Given the description of an element on the screen output the (x, y) to click on. 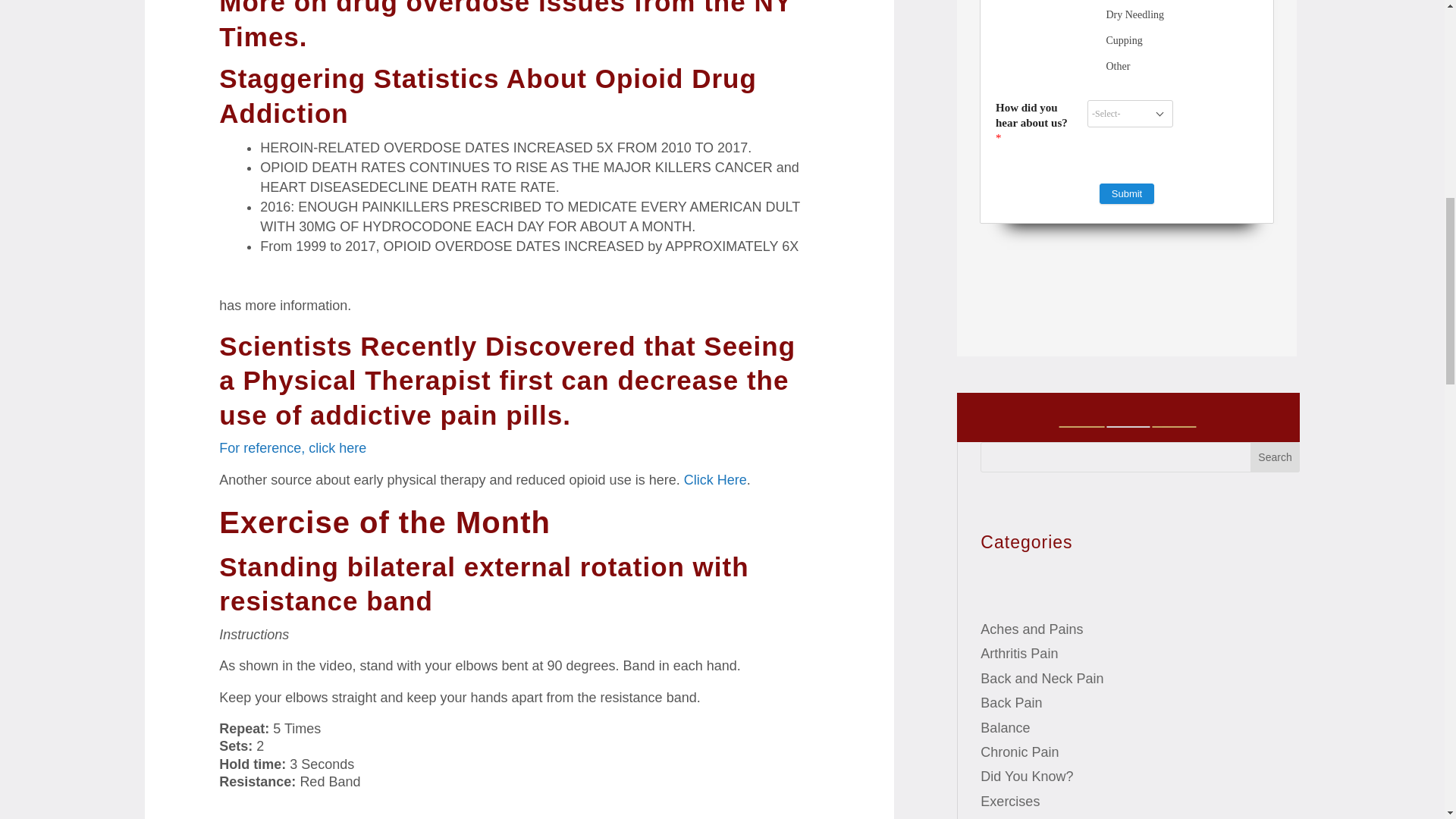
sidebar-1 (1128, 426)
